Given the description of an element on the screen output the (x, y) to click on. 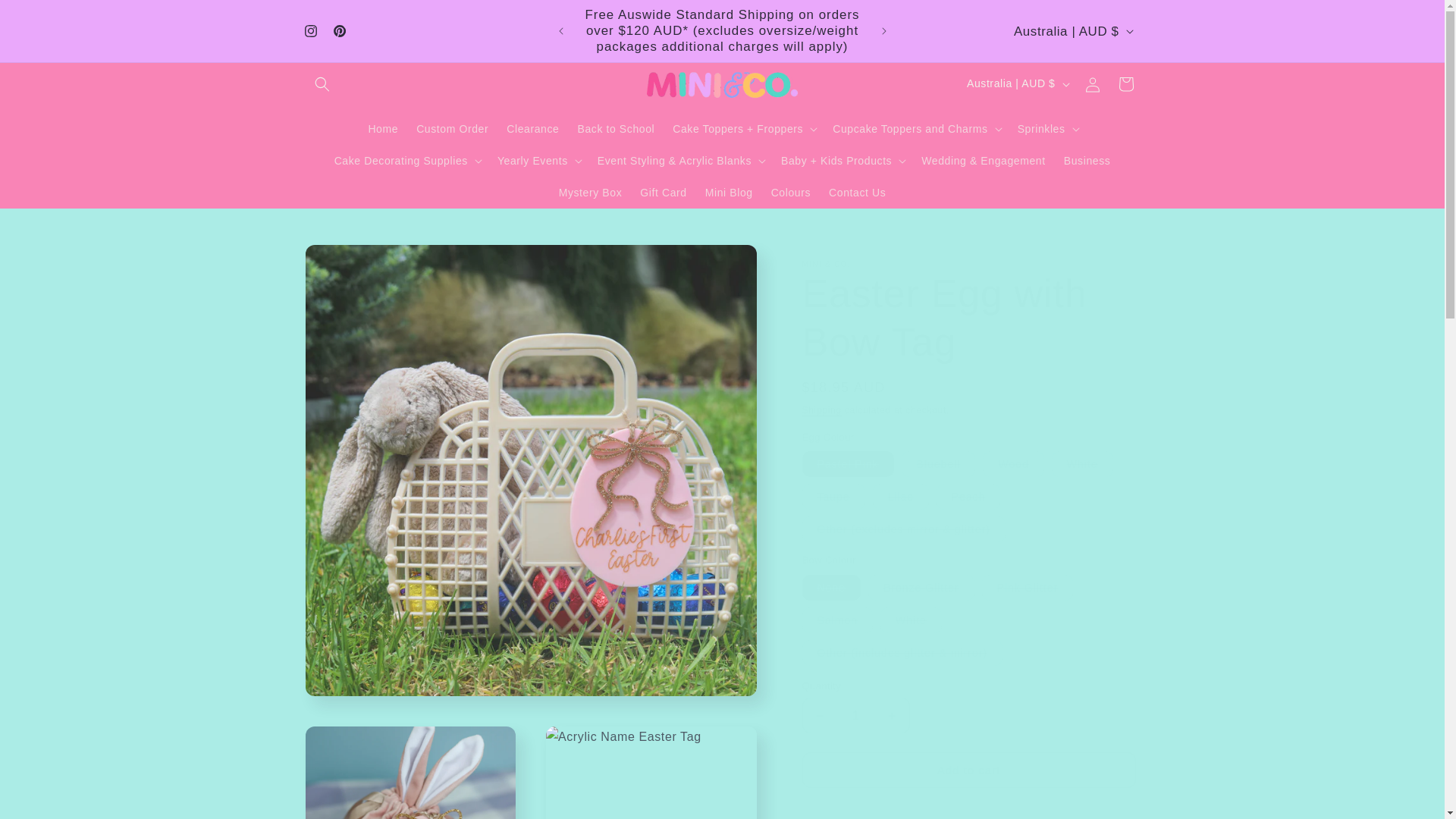
Skip to content (45, 17)
Instagram (309, 30)
1 (856, 715)
Open media 3 in modal (651, 772)
